Given the description of an element on the screen output the (x, y) to click on. 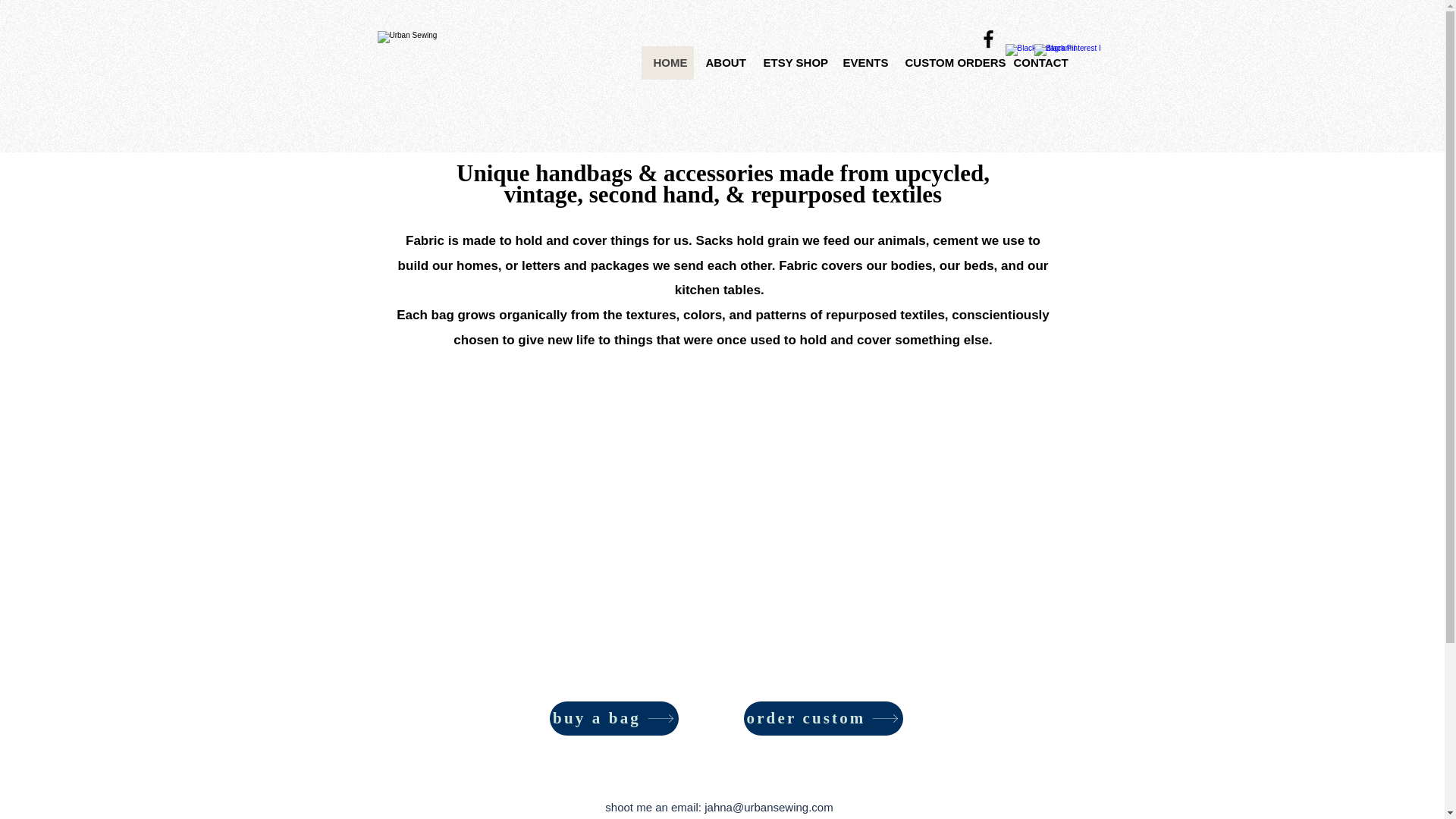
buy a bag (613, 718)
HOME (668, 62)
CUSTOM ORDERS (947, 62)
Handmade Bags and Accessories (430, 73)
EVENTS (862, 62)
ETSY SHOP (790, 62)
ABOUT (722, 62)
CONTACT (1034, 62)
order custom (822, 718)
